Given the description of an element on the screen output the (x, y) to click on. 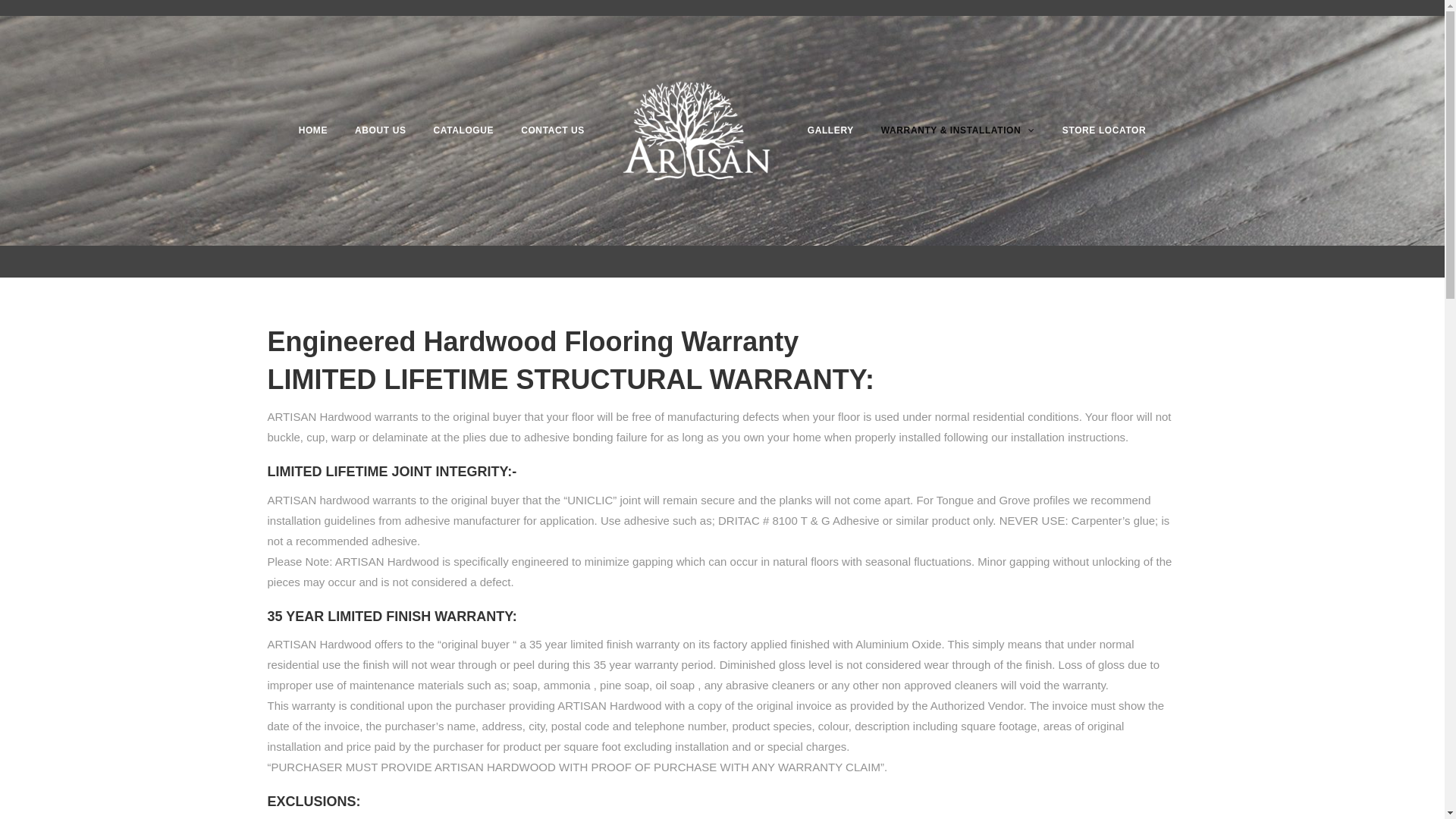
HOME Element type: text (313, 130)
STORE LOCATOR Element type: text (1103, 130)
CATALOGUE Element type: text (464, 130)
GALLERY Element type: text (830, 130)
ABOUT US Element type: text (380, 130)
CONTACT US Element type: text (552, 130)
WARRANTY & INSTALLATION Element type: text (957, 130)
